Given the description of an element on the screen output the (x, y) to click on. 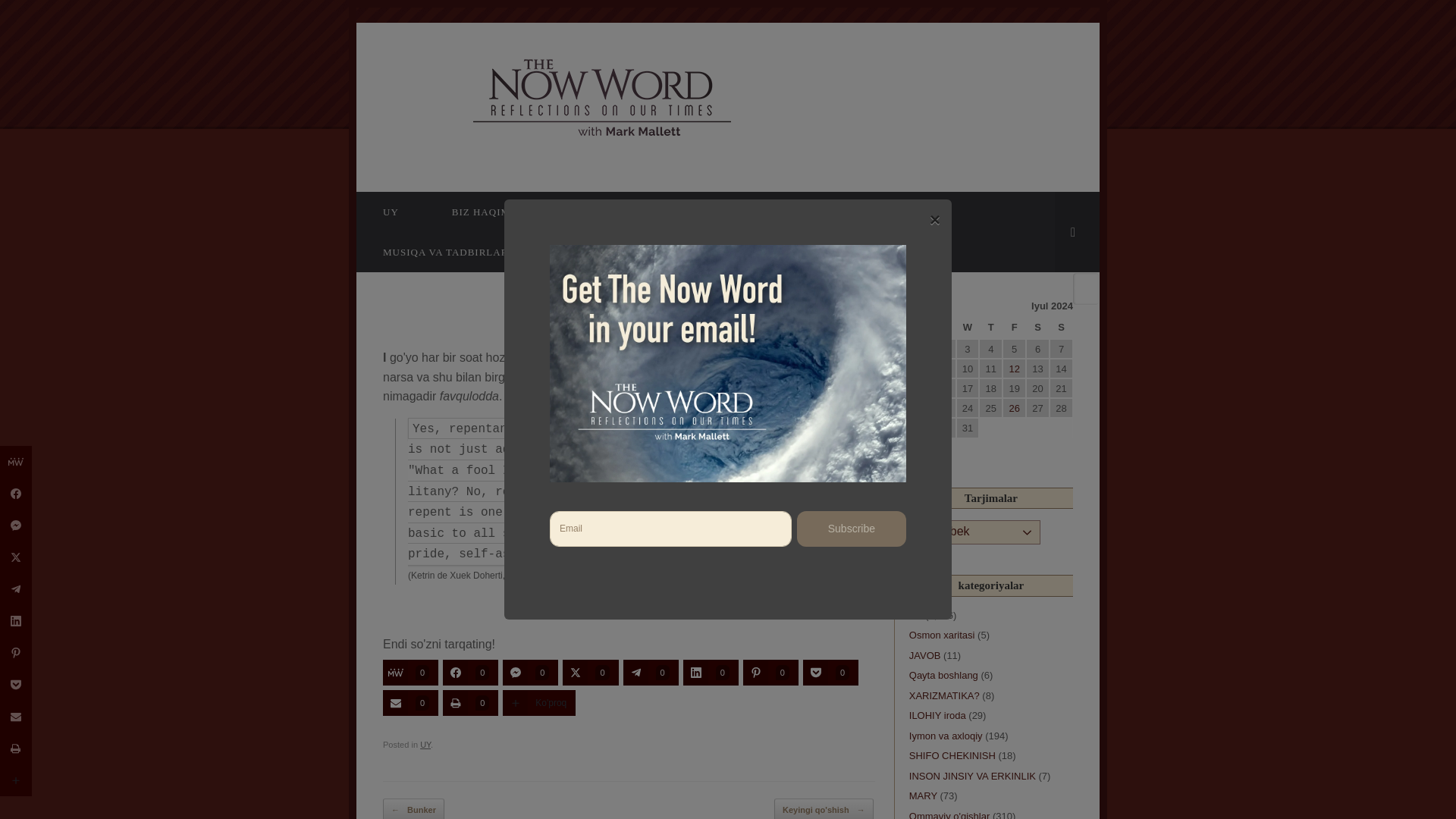
Markning barcha xabarlarini ko'rish (684, 326)
Friday (1014, 328)
HADYA ETMOQ (629, 211)
UY (390, 211)
Wednesday (967, 328)
TO'PLAMGA (592, 251)
Hozirgi so'z (511, 97)
BIZ HAQIMIZDA (494, 211)
Monday (920, 328)
Sunday (1061, 328)
Tuesday (944, 328)
MUSIQA VA TADBIRLAR (445, 251)
Saturday (1037, 328)
QIROLLIKKA HISOBLASH (788, 211)
